Given the description of an element on the screen output the (x, y) to click on. 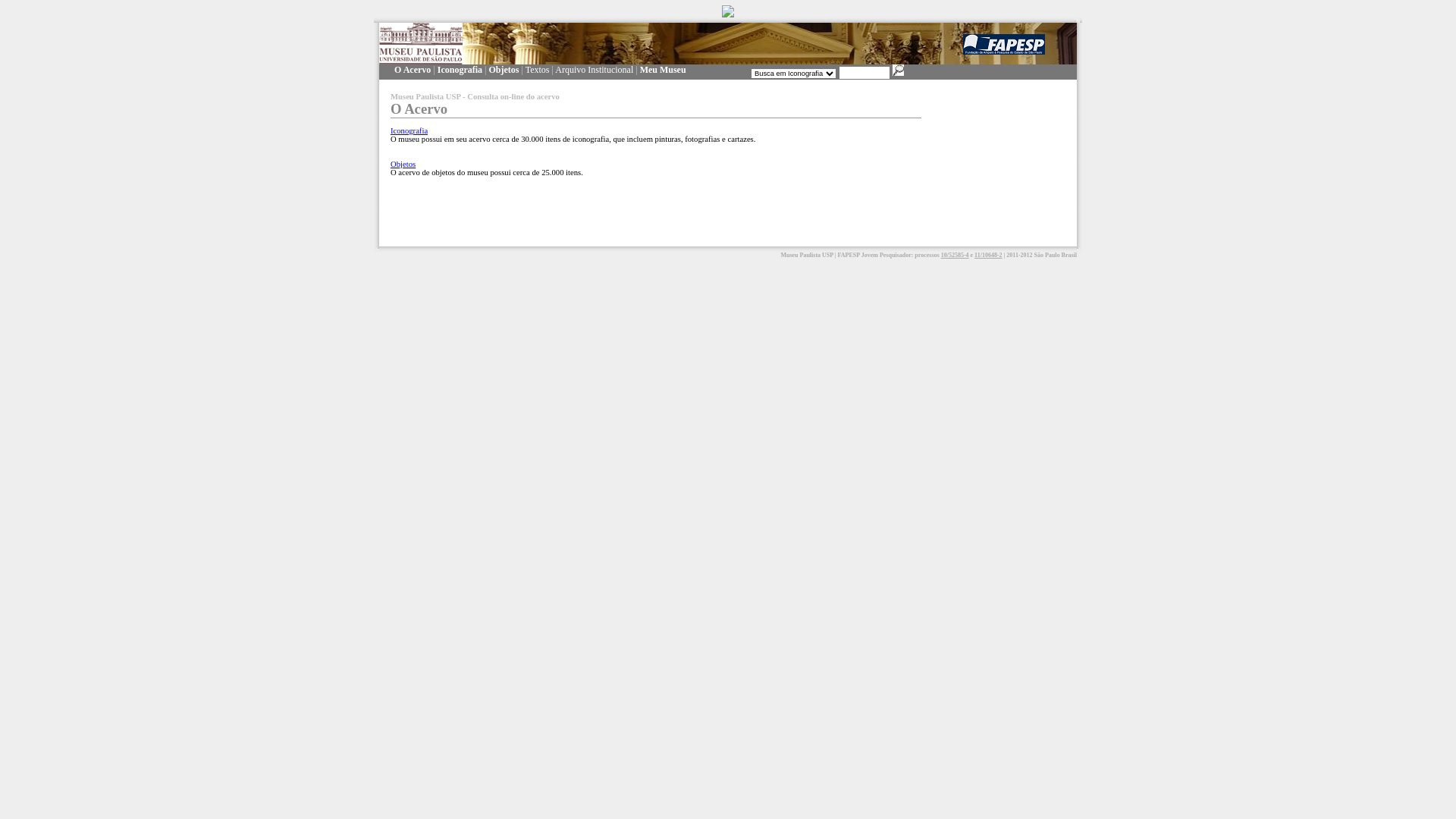
11/10648-2 Element type: text (987, 254)
10/52585-4 Element type: text (955, 254)
Objetos Element type: text (503, 69)
Meu Museu Element type: text (663, 69)
Iconografia Element type: text (459, 69)
Iconografia Element type: text (408, 130)
O Acervo Element type: text (412, 69)
Objetos Element type: text (402, 164)
